Given the description of an element on the screen output the (x, y) to click on. 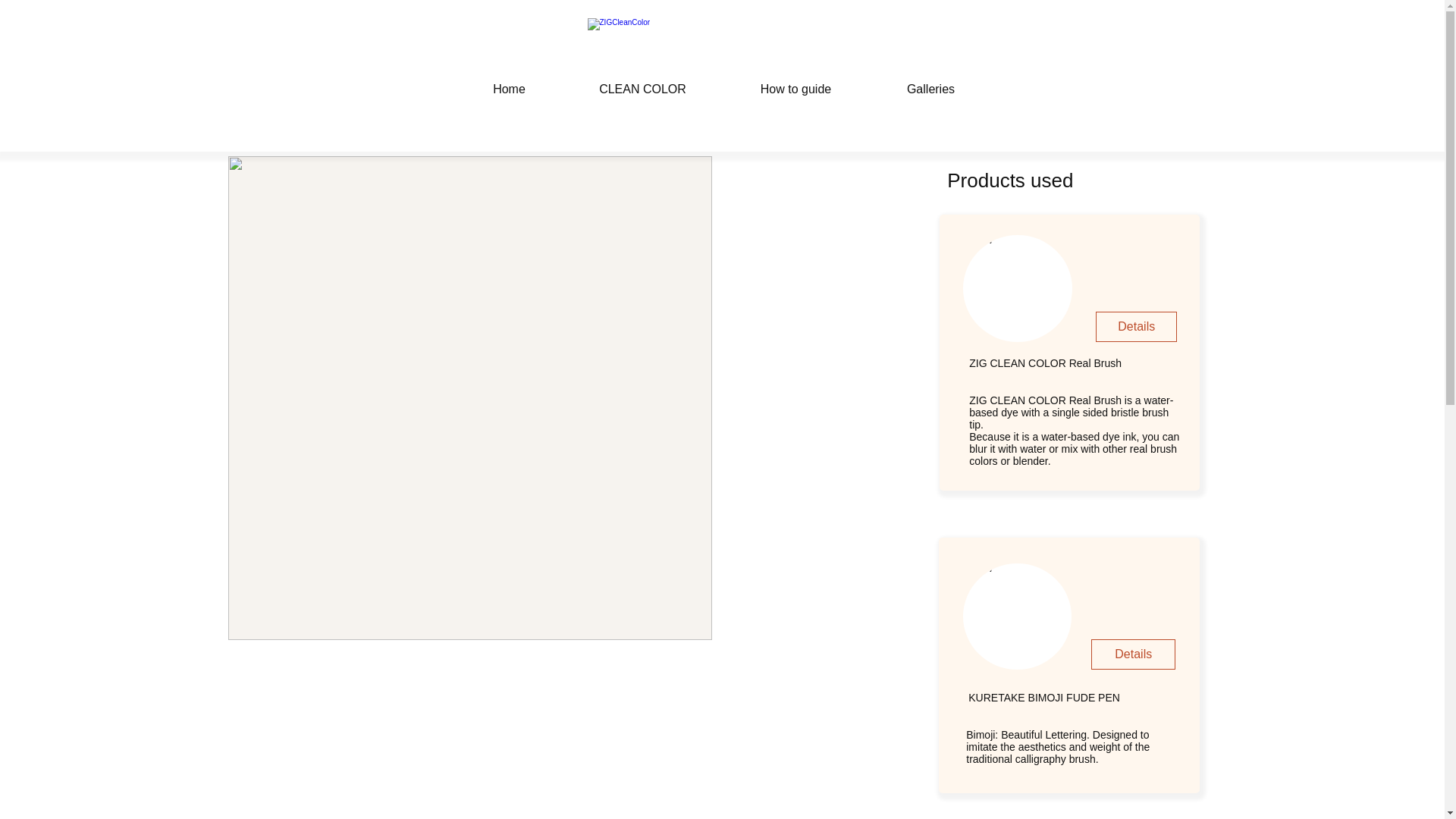
Details (1136, 327)
bimoji gallery.jpg (1016, 616)
Home (509, 82)
How to guide (796, 82)
Galleries (930, 82)
Details (1132, 654)
CLEAN COLOR (643, 82)
